Given the description of an element on the screen output the (x, y) to click on. 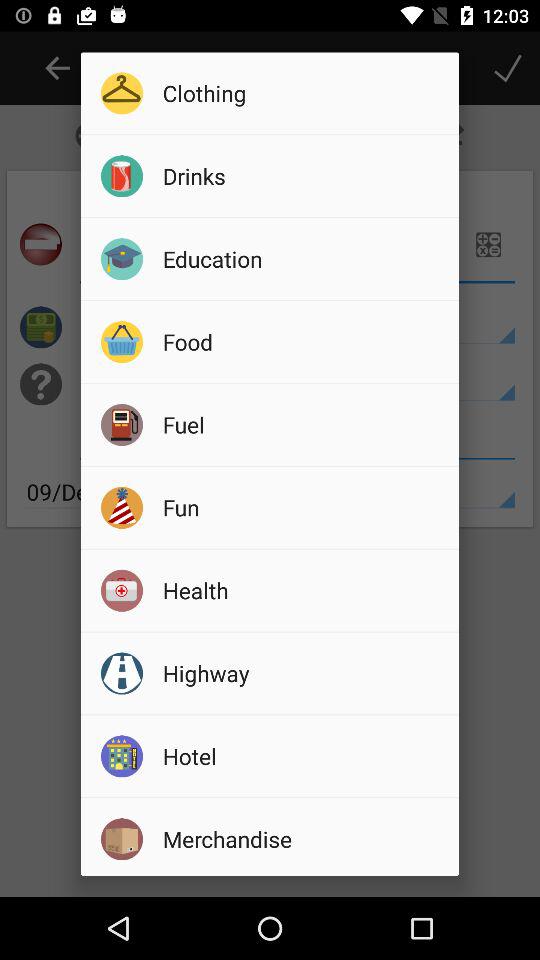
tap the icon above the food icon (303, 258)
